Given the description of an element on the screen output the (x, y) to click on. 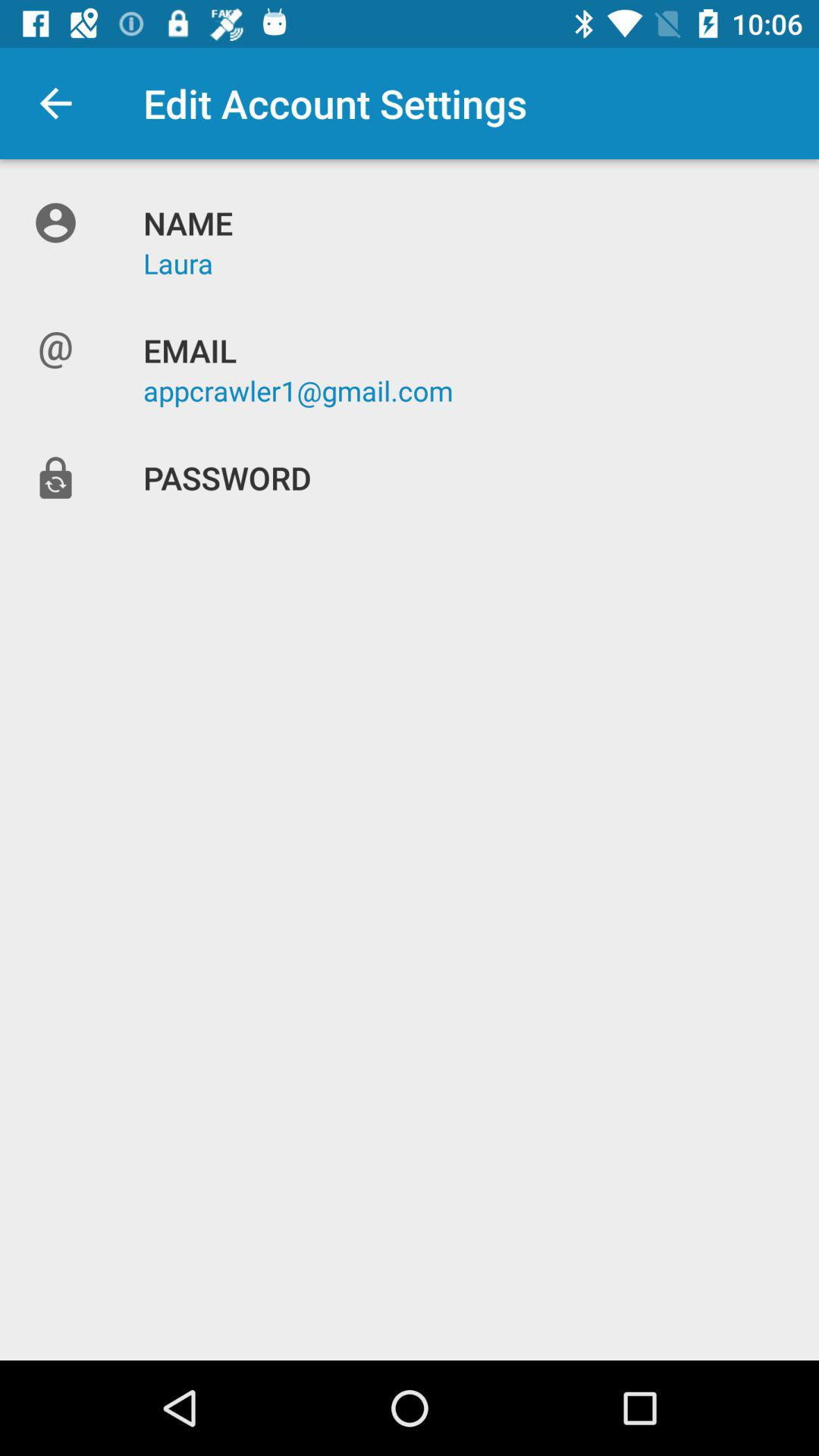
click the icon to the left of edit account settings item (55, 103)
